Given the description of an element on the screen output the (x, y) to click on. 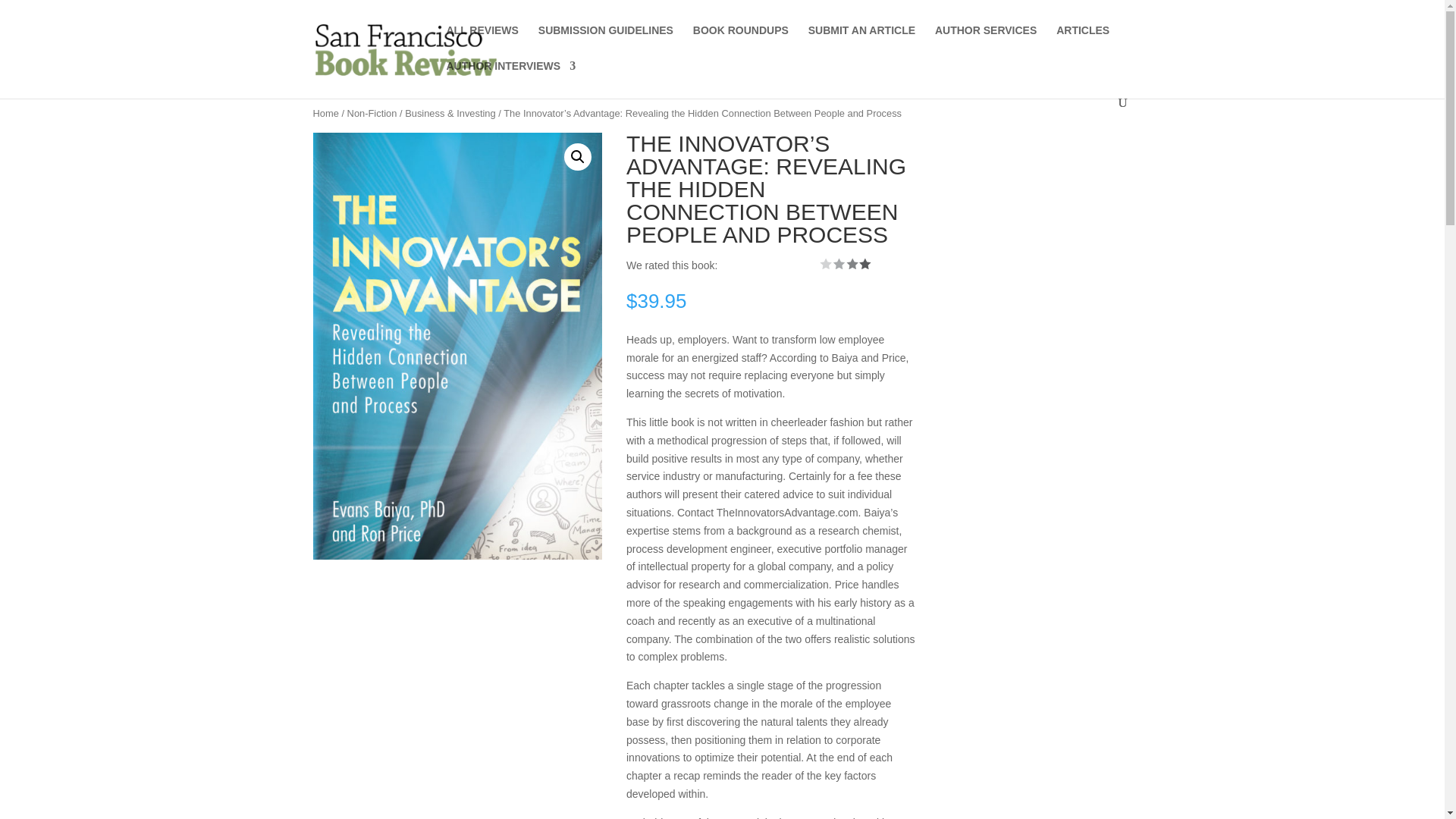
ALL REVIEWS (481, 42)
SUBMISSION GUIDELINES (605, 42)
ARTICLES (1083, 42)
AUTHOR SERVICES (985, 42)
Non-Fiction (372, 112)
AUTHOR INTERVIEWS (510, 78)
Home (325, 112)
SUBMIT AN ARTICLE (861, 42)
BOOK ROUNDUPS (741, 42)
